Given the description of an element on the screen output the (x, y) to click on. 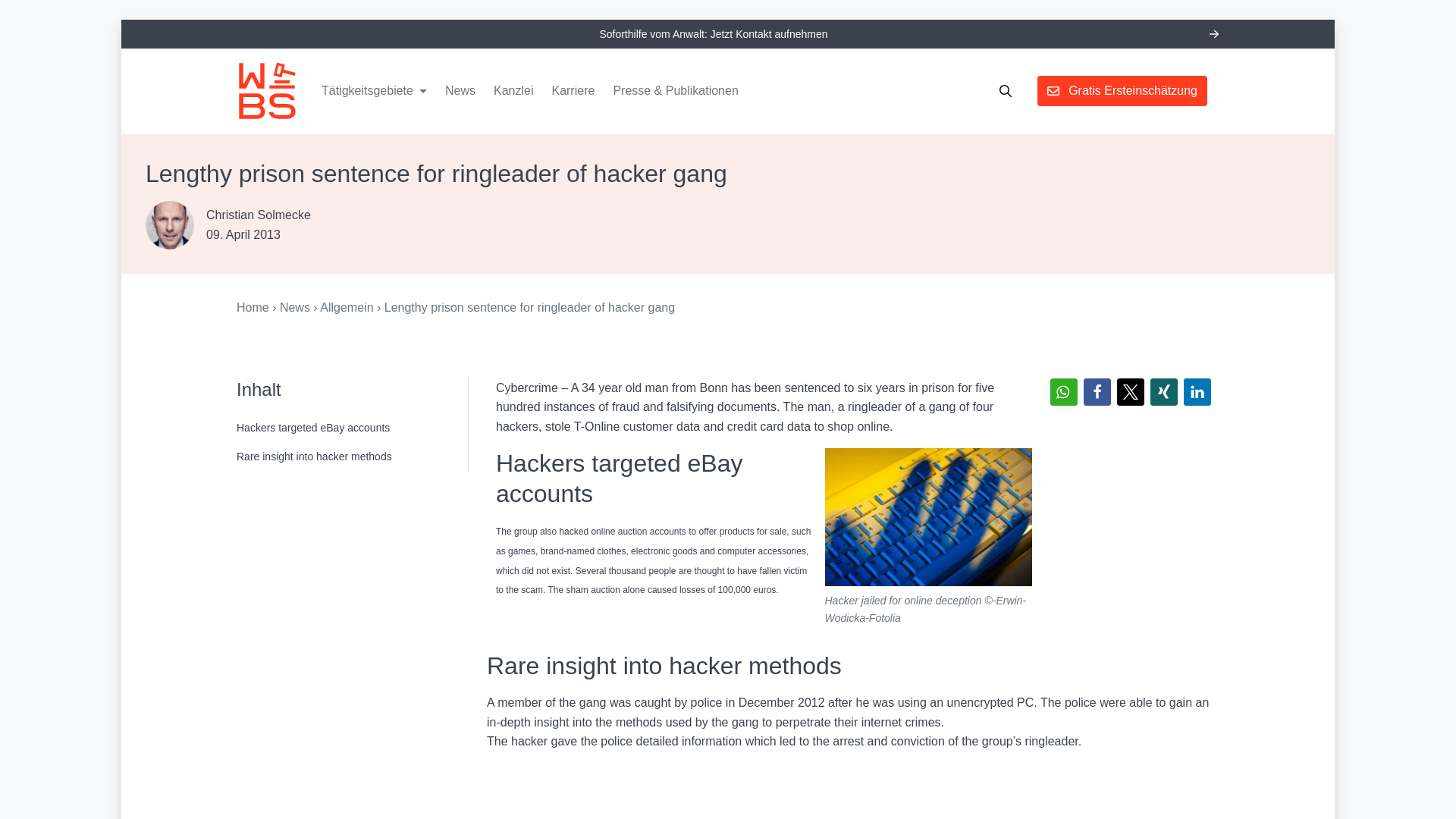
Home (252, 307)
WBS.LEGAL (266, 90)
News (460, 91)
Kanzlei (512, 91)
Inhalt (351, 389)
Karriere (571, 91)
Allgemein (346, 307)
News (294, 307)
